Given the description of an element on the screen output the (x, y) to click on. 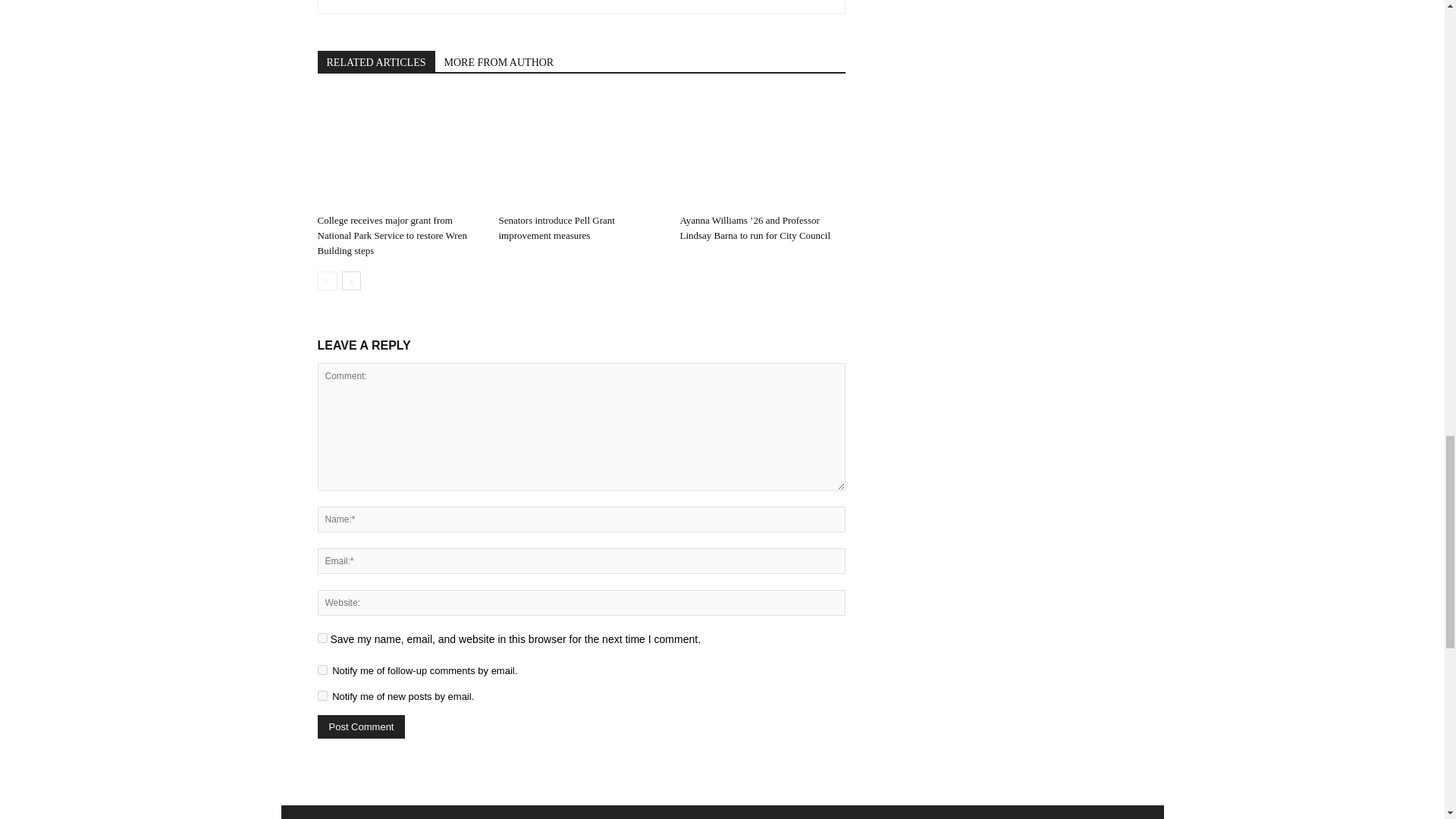
subscribe (321, 696)
yes (321, 637)
Post Comment (360, 726)
subscribe (321, 669)
